Given the description of an element on the screen output the (x, y) to click on. 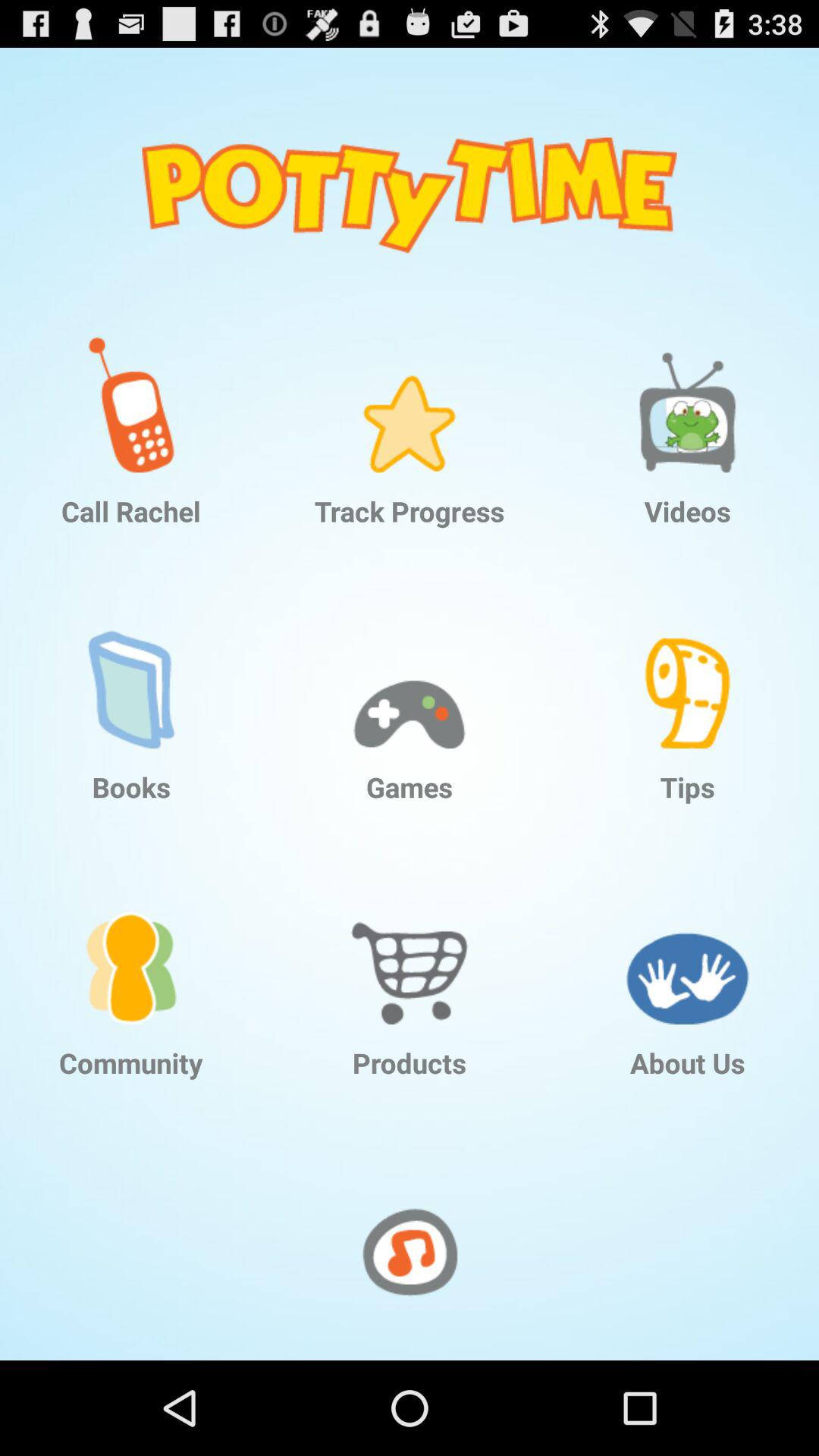
click the item below community app (409, 1250)
